Given the description of an element on the screen output the (x, y) to click on. 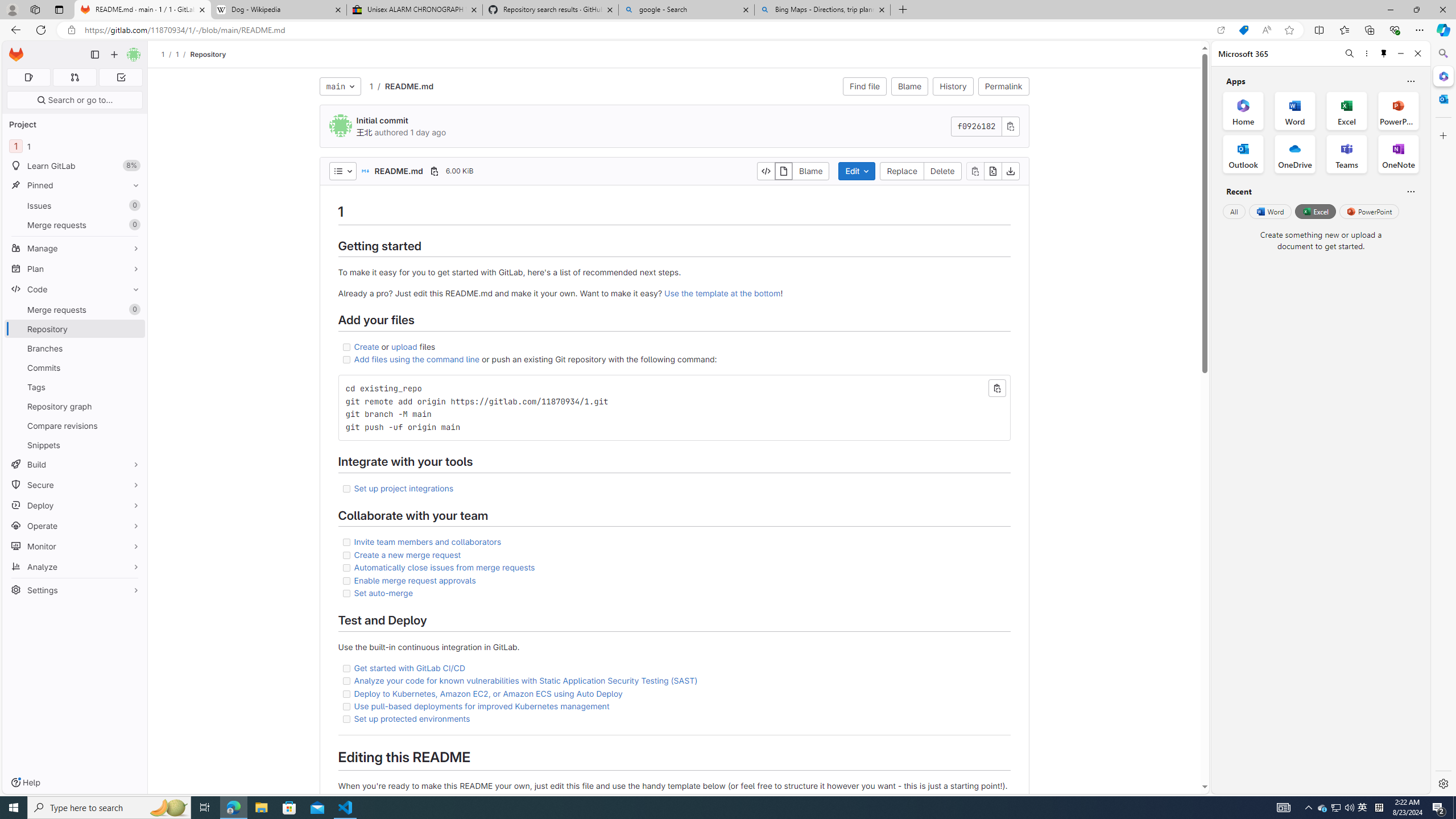
Word Office App (1295, 110)
Merge requests 0 (74, 76)
Learn GitLab8% (74, 165)
Open raw (991, 171)
Learn GitLab 8% (74, 165)
Primary navigation sidebar (94, 54)
Set up protected environments (411, 718)
1/ (183, 53)
Operate (74, 525)
Unpin Issues (132, 205)
Manage (74, 248)
Merge requests0 (74, 309)
Create a new merge request (407, 554)
